Given the description of an element on the screen output the (x, y) to click on. 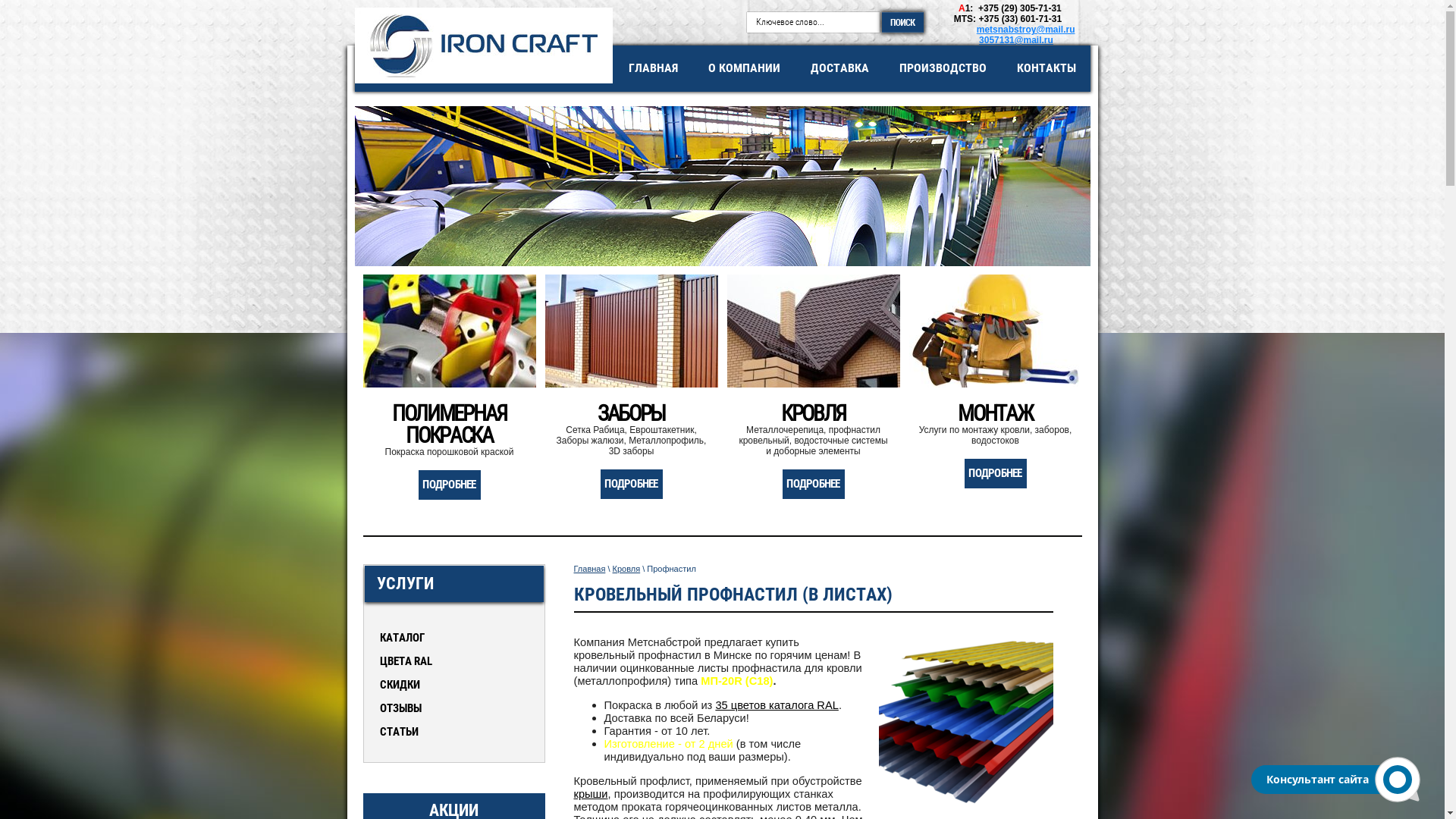
metsnabstroy@mail.ru Element type: text (1025, 29)
3057131@mail.ru Element type: text (1016, 39)
